Given the description of an element on the screen output the (x, y) to click on. 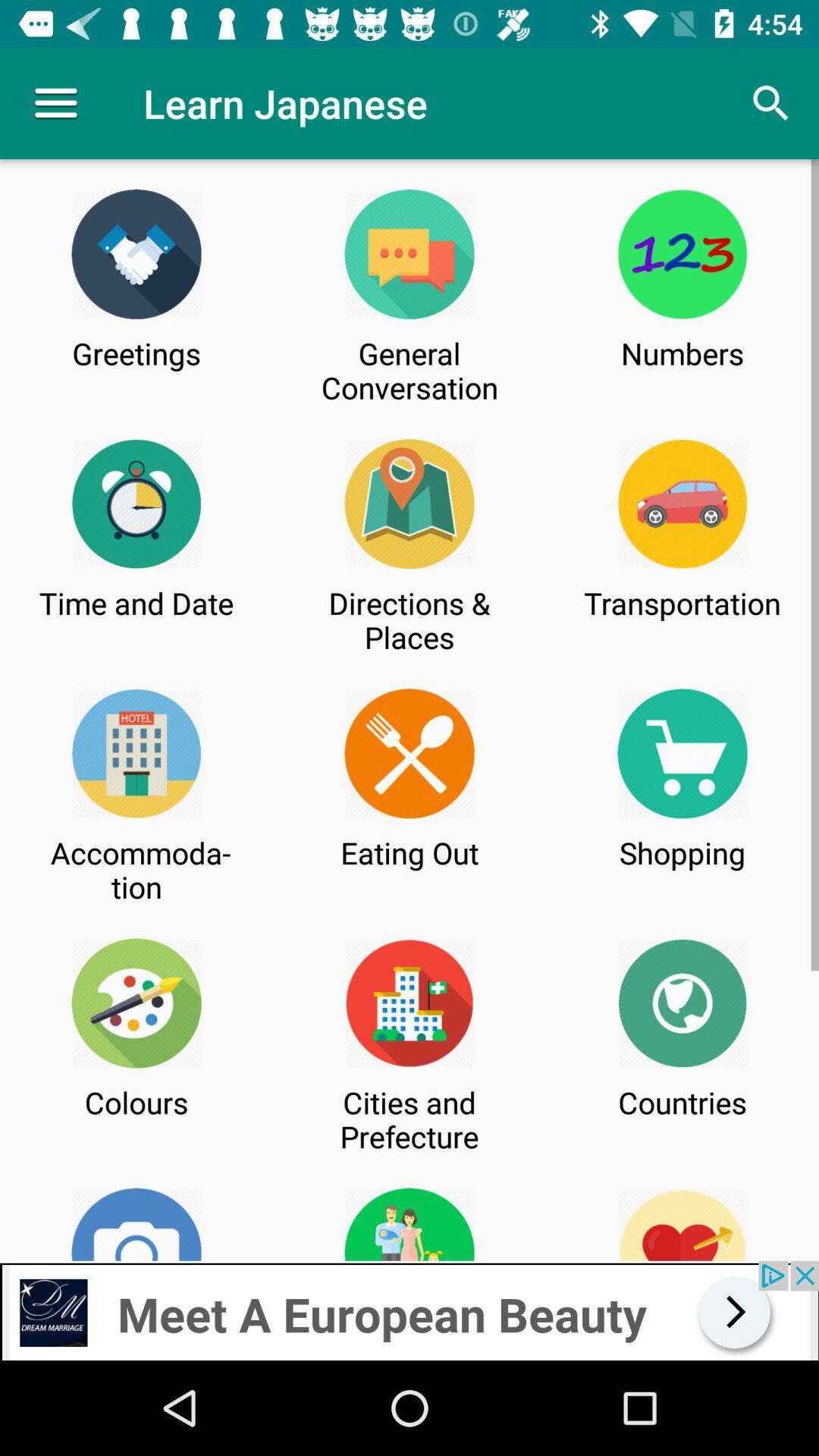
meet a european beauty (409, 1310)
